Given the description of an element on the screen output the (x, y) to click on. 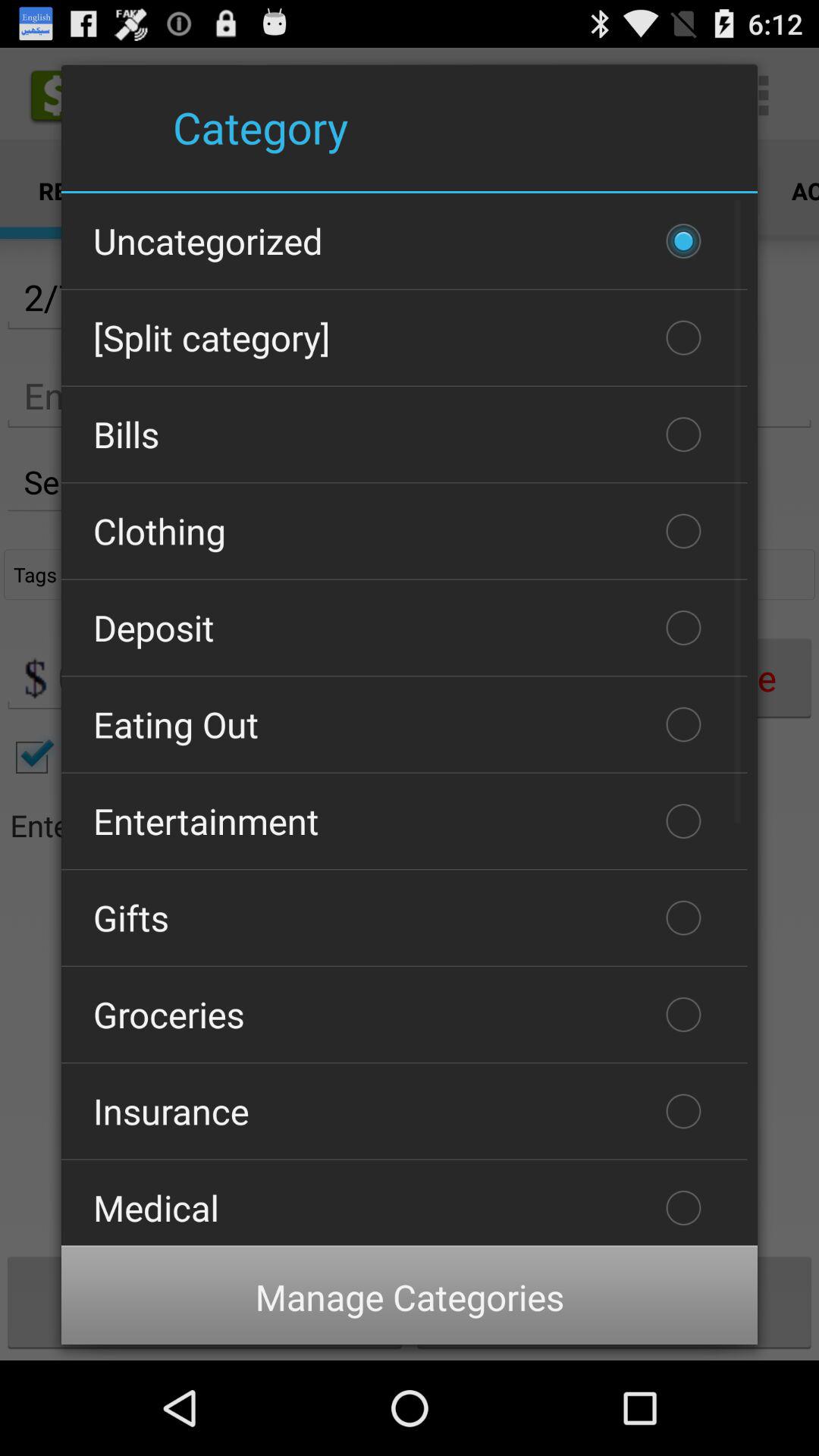
choose the item below groceries item (404, 1111)
